Given the description of an element on the screen output the (x, y) to click on. 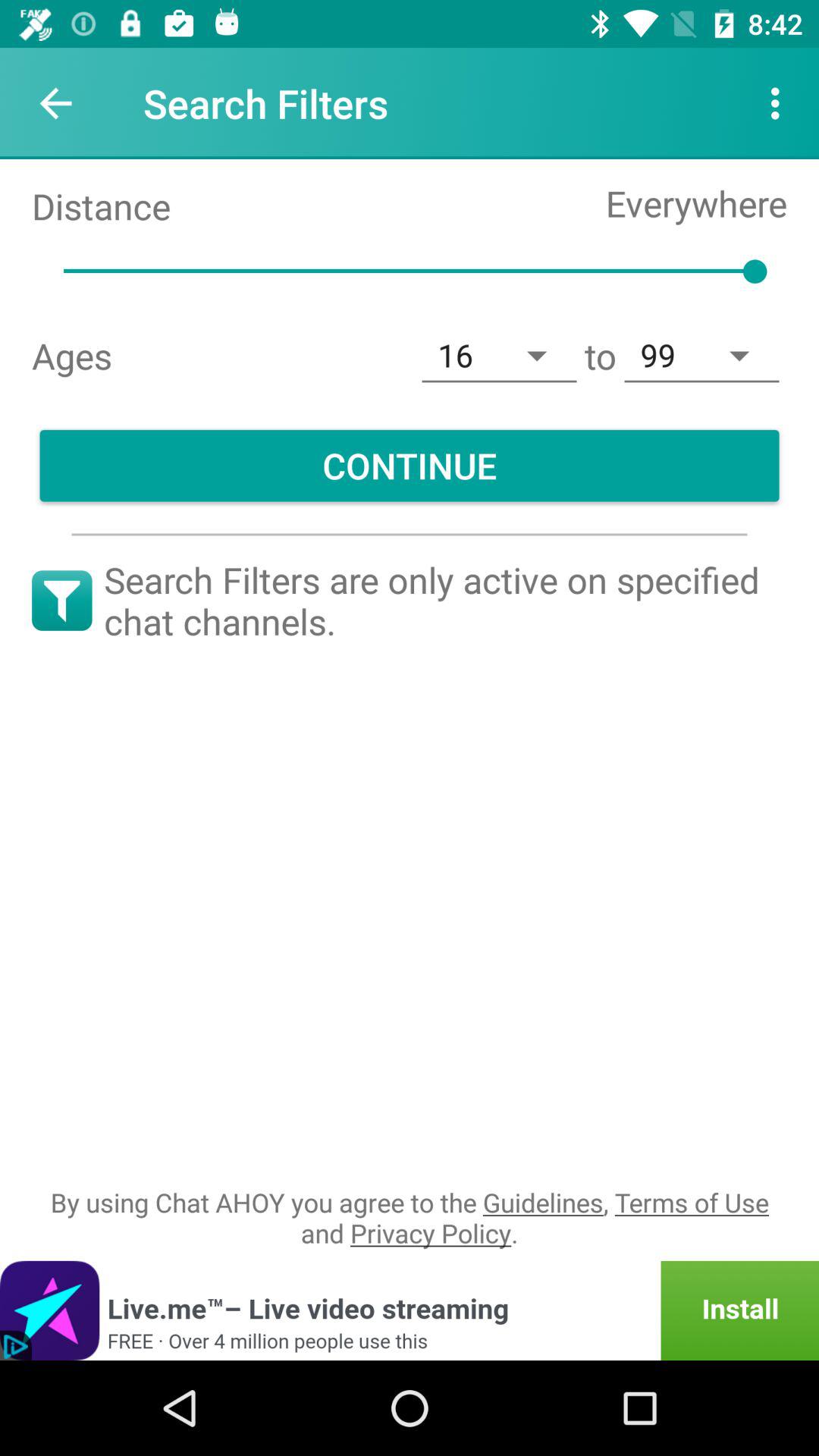
open the icon above the everywhere item (779, 103)
